Given the description of an element on the screen output the (x, y) to click on. 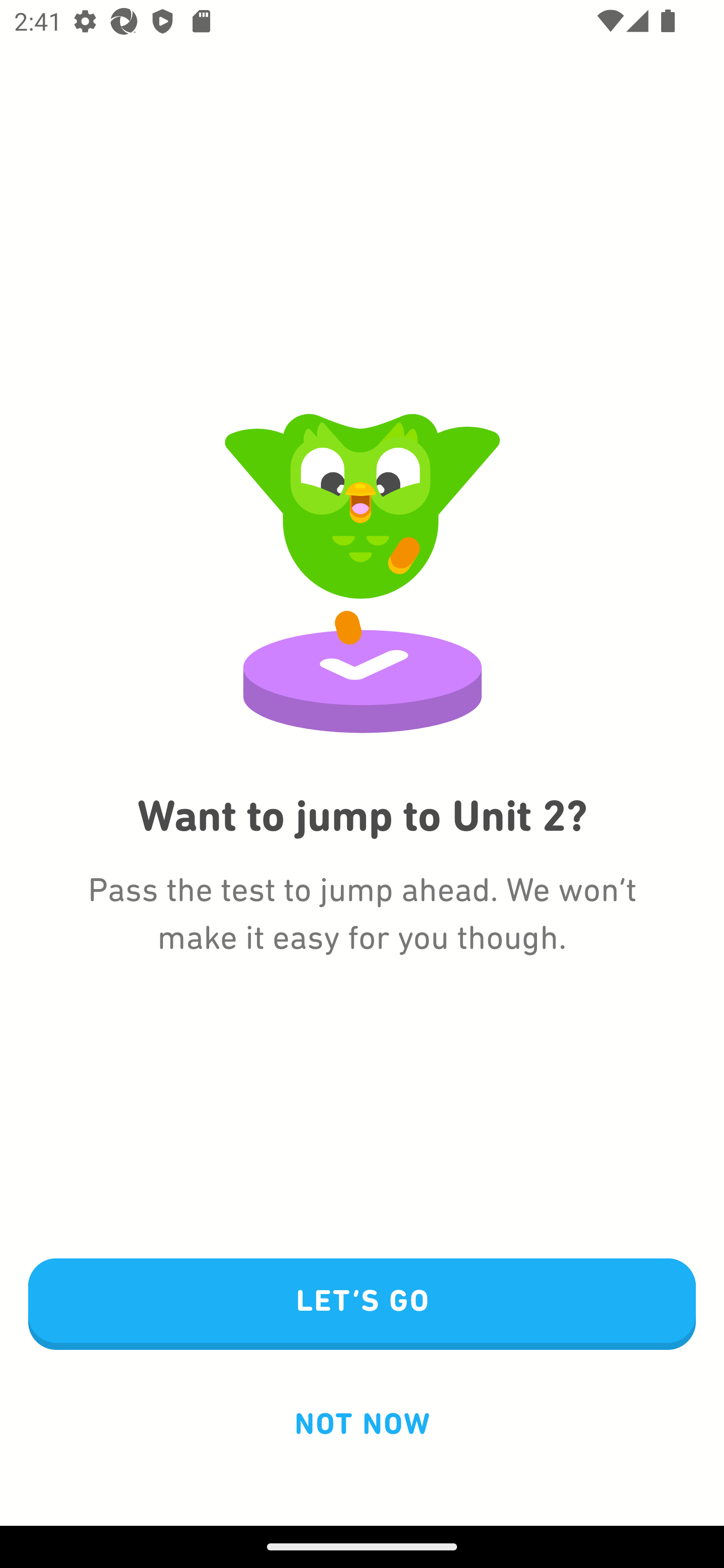
LET’S GO (361, 1304)
NOT NOW (361, 1423)
